Given the description of an element on the screen output the (x, y) to click on. 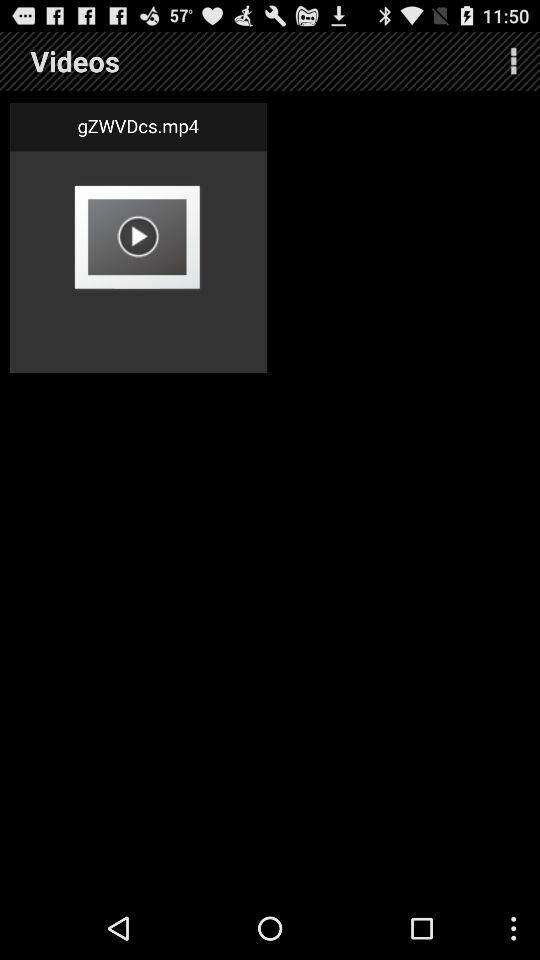
turn on gzwvdcs.mp4 icon (138, 125)
